Given the description of an element on the screen output the (x, y) to click on. 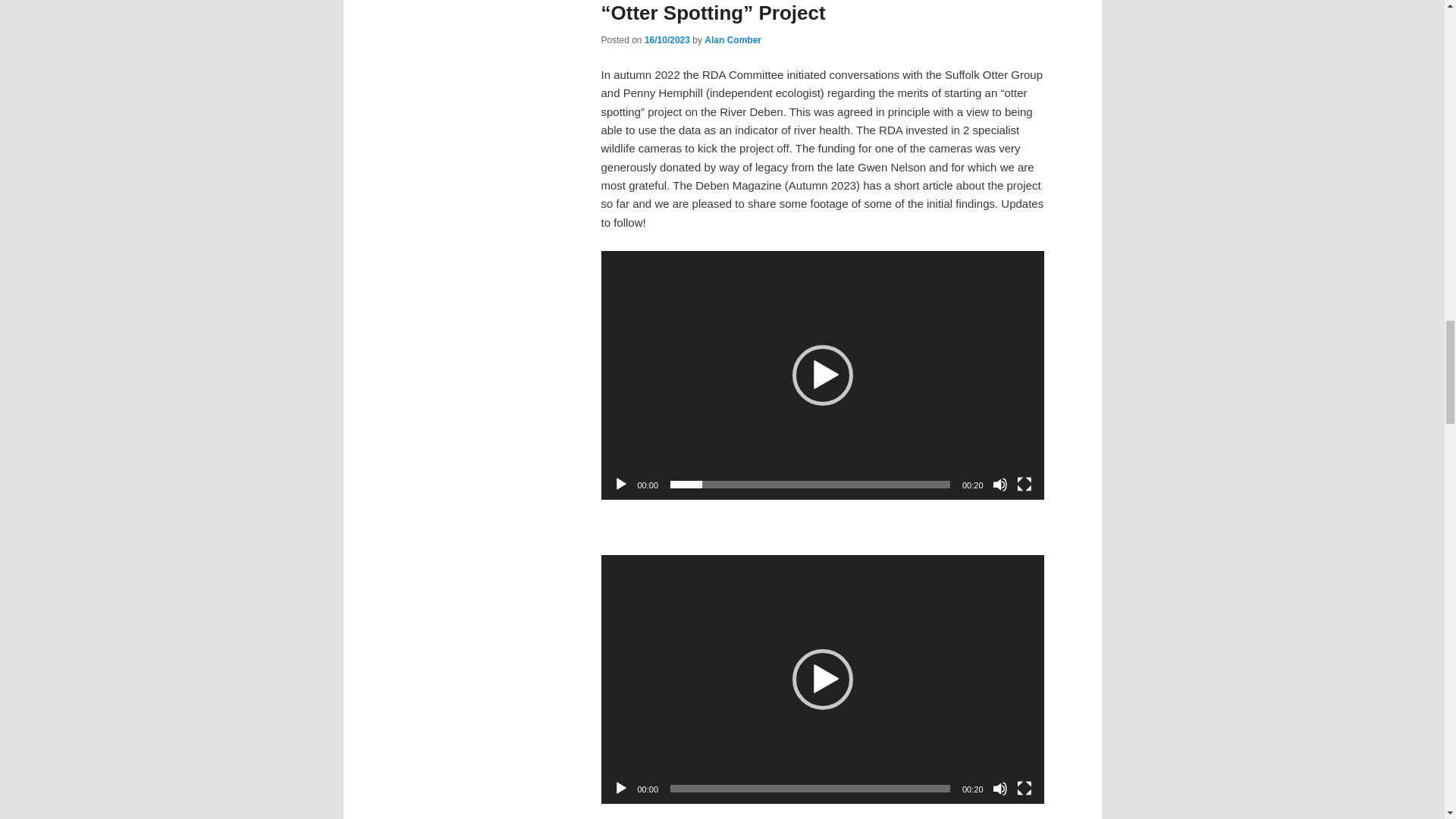
Fullscreen (1023, 484)
Play (619, 484)
Play (619, 788)
Fullscreen (1023, 788)
Mute (999, 788)
Mute (999, 484)
